Given the description of an element on the screen output the (x, y) to click on. 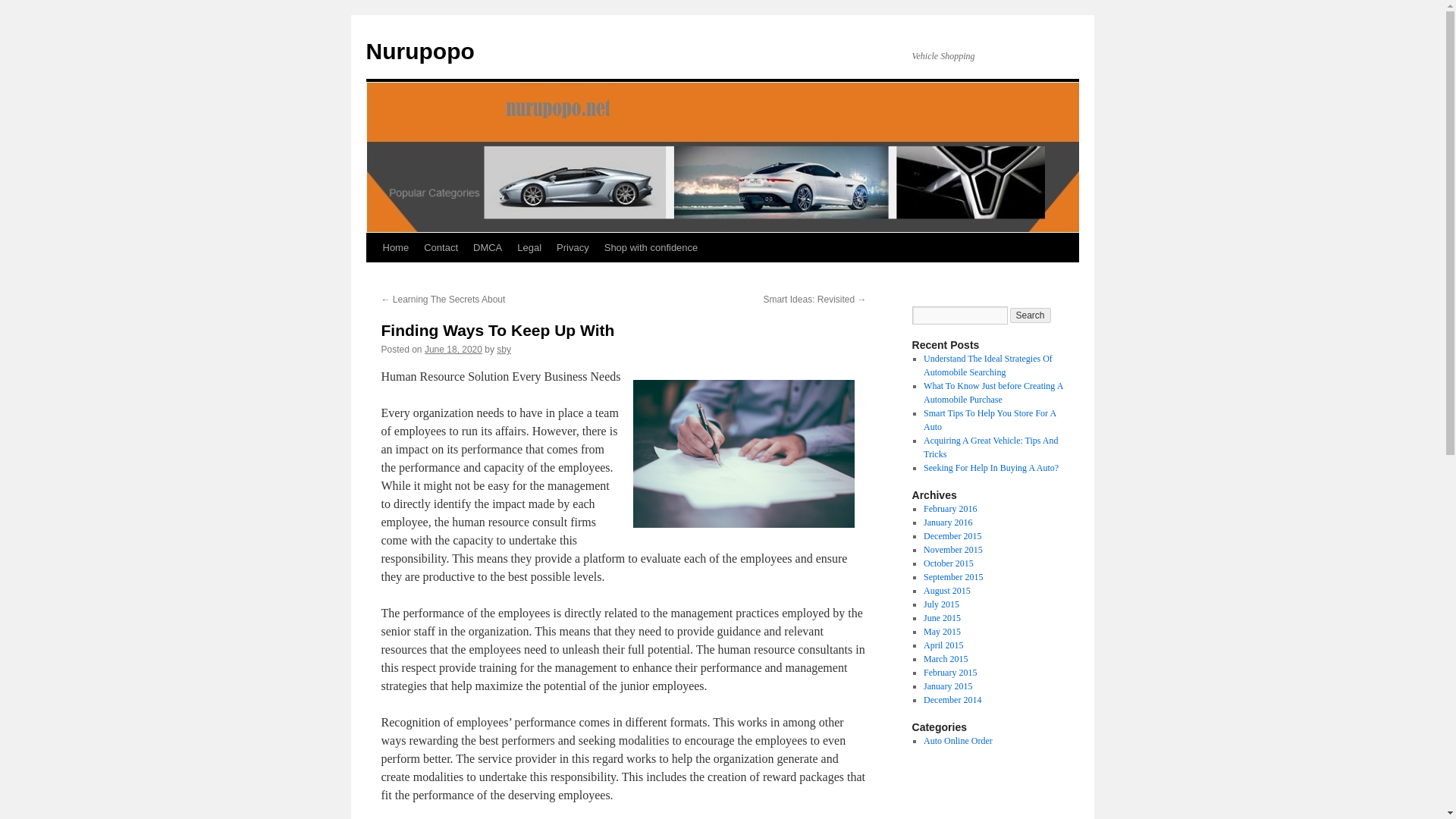
Search (1030, 314)
Legal (528, 247)
September 2015 (952, 576)
View all posts by sby (503, 348)
January 2016 (947, 521)
DMCA (487, 247)
June 18, 2020 (453, 348)
December 2014 (952, 699)
January 2015 (947, 685)
Understand The Ideal Strategies Of Automobile Searching (987, 364)
November 2015 (952, 549)
Privacy (572, 247)
April 2015 (942, 644)
Seeking For Help In Buying A Auto? (990, 467)
May 2015 (941, 631)
